Given the description of an element on the screen output the (x, y) to click on. 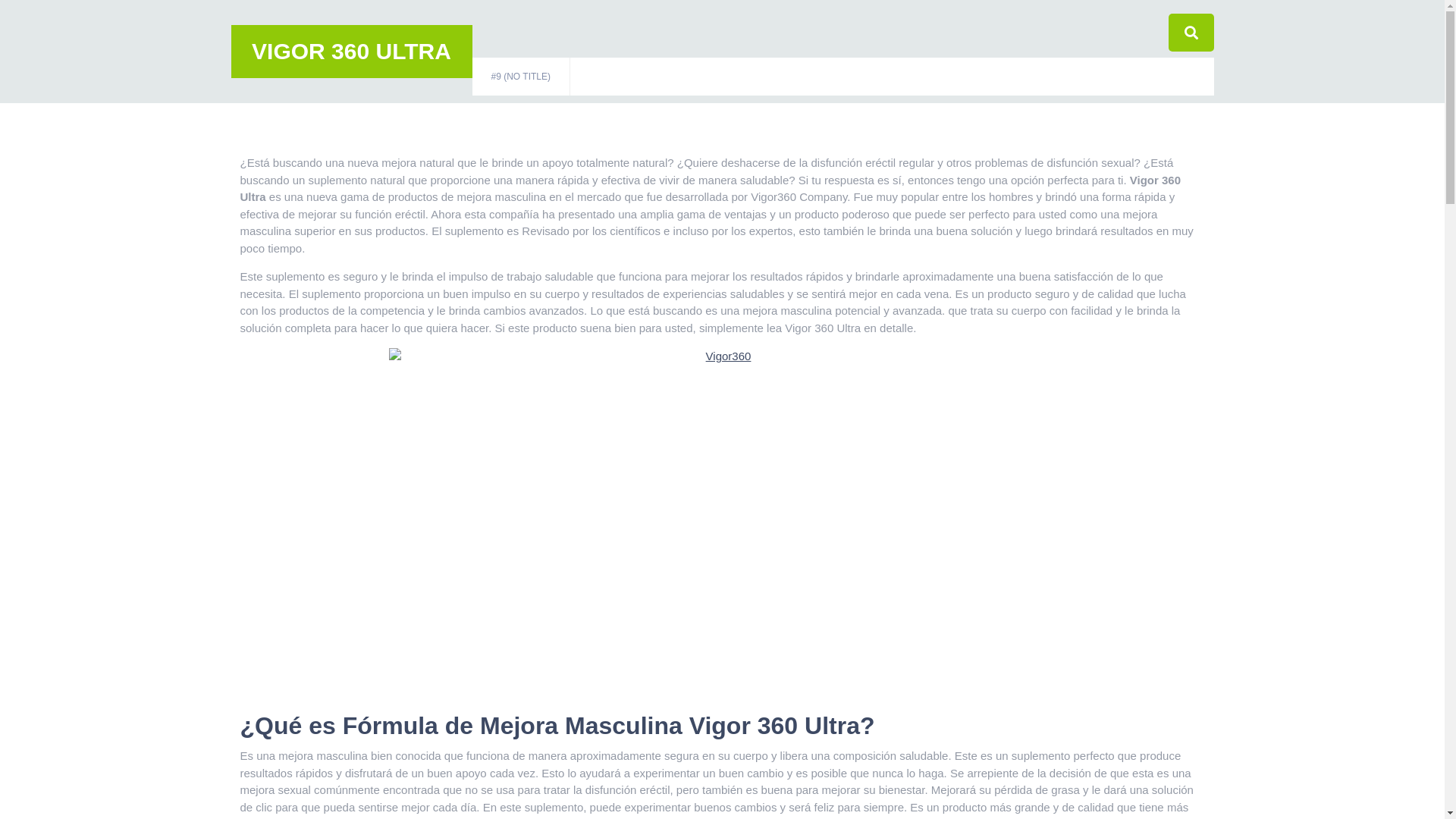
Search Element type: text (1157, 76)
VIGOR 360 ULTRA Element type: text (351, 50)
#9 (NO TITLE) Element type: text (520, 76)
